Given the description of an element on the screen output the (x, y) to click on. 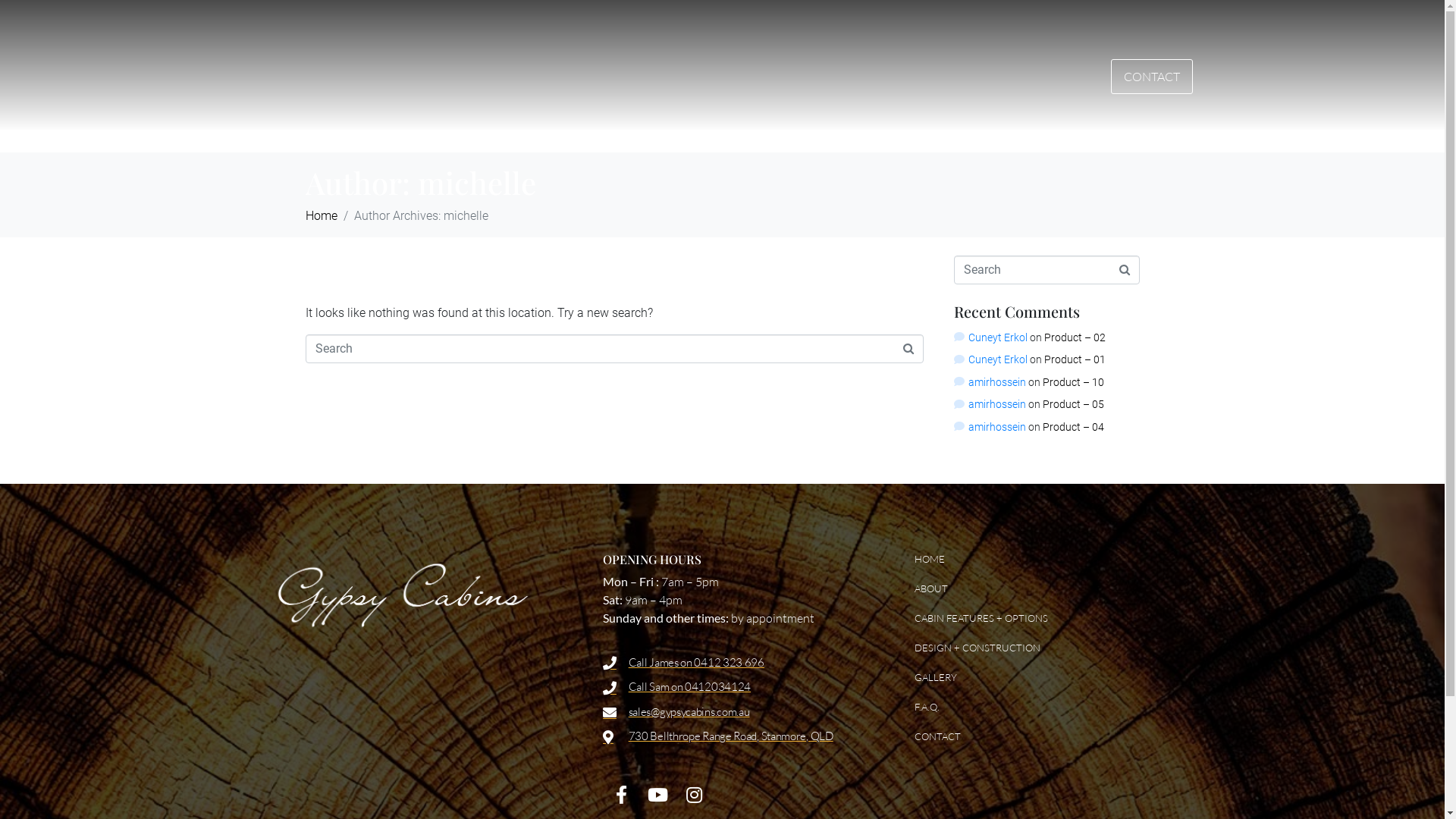
F.A.Q. Element type: text (1042, 706)
GALLERY Element type: text (1042, 677)
CABIN FEATURES + OPTIONS Element type: text (1042, 618)
730 Bellthrope Range Road, Stanmore, QLD Element type: text (739, 736)
sales@gypsycabins.com.au Element type: text (739, 712)
CONTACT Element type: text (1151, 76)
CONTACT Element type: text (1042, 736)
HOME Element type: text (1042, 559)
Home Element type: text (320, 215)
ABOUT Element type: text (1042, 588)
DESIGN + CONSTRUCTION Element type: text (1042, 647)
